Given the description of an element on the screen output the (x, y) to click on. 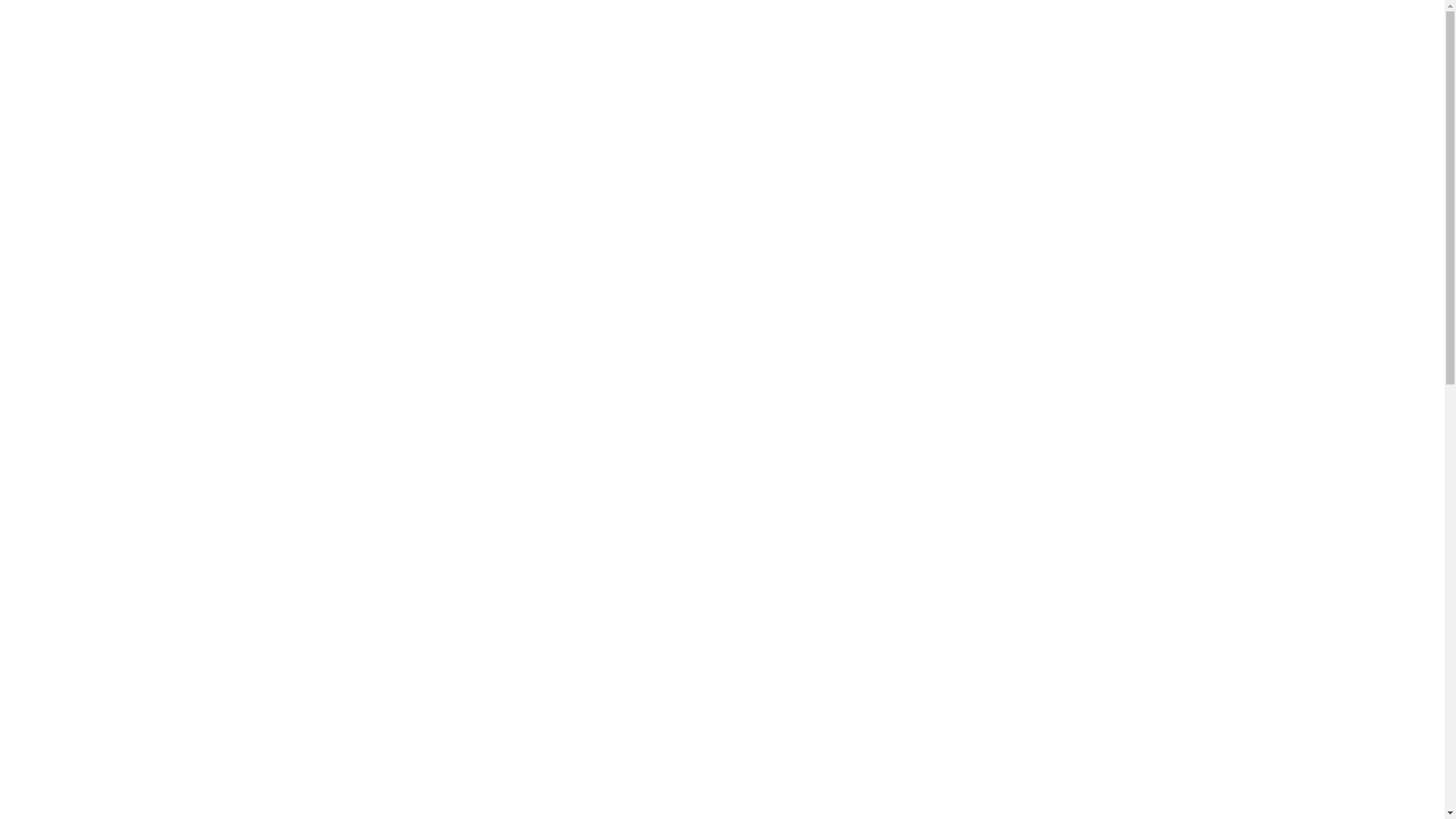
Briefe ans Christkind Element type: text (287, 593)
post@applausverlag.ch Element type: text (1052, 434)
Google Element type: text (431, 380)
In Bildern denken / Thinking in Pictures Element type: text (346, 646)
+41 44 380 29 50 Element type: text (1029, 408)
APPLAUS Medien AG Element type: hover (1314, 42)
Every day a drawing Element type: text (286, 460)
Das 9x9 der Gastgeberei Element type: text (298, 514)
